Given the description of an element on the screen output the (x, y) to click on. 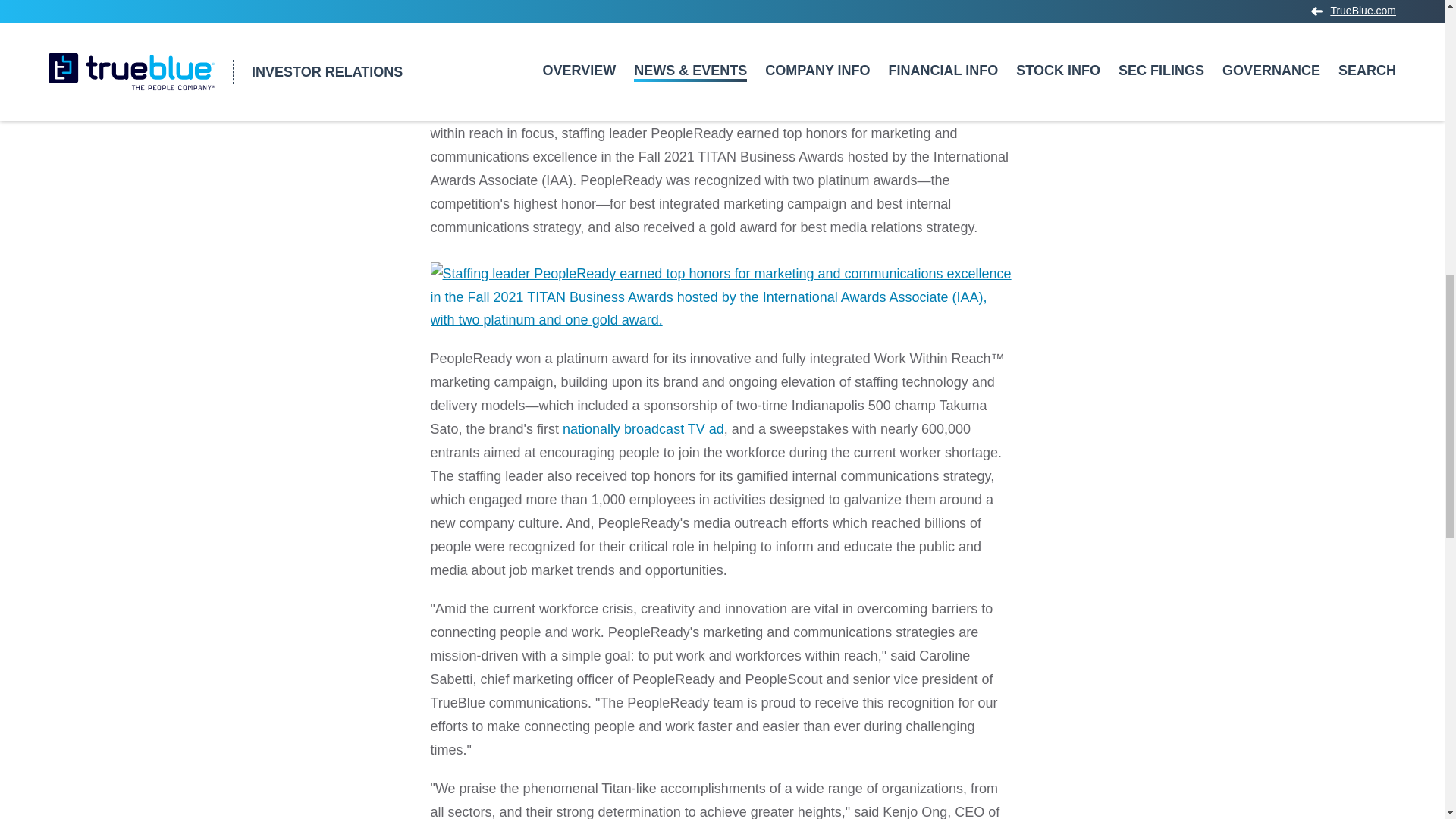
Opens in a new window (642, 428)
Opens in a new window (722, 292)
